Given the description of an element on the screen output the (x, y) to click on. 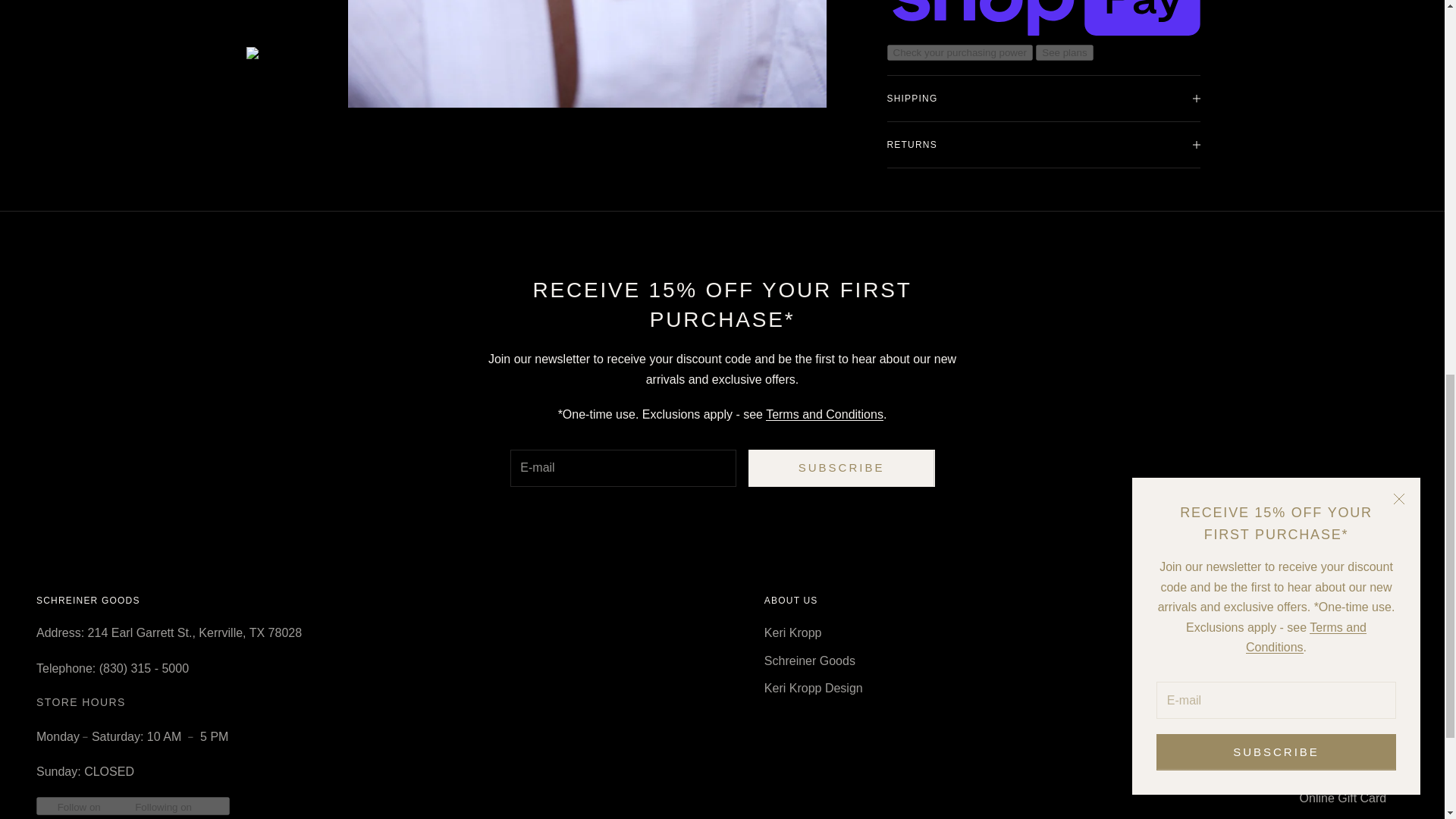
SUBSCRIBE (841, 467)
Terms and Conditions (824, 413)
